Given the description of an element on the screen output the (x, y) to click on. 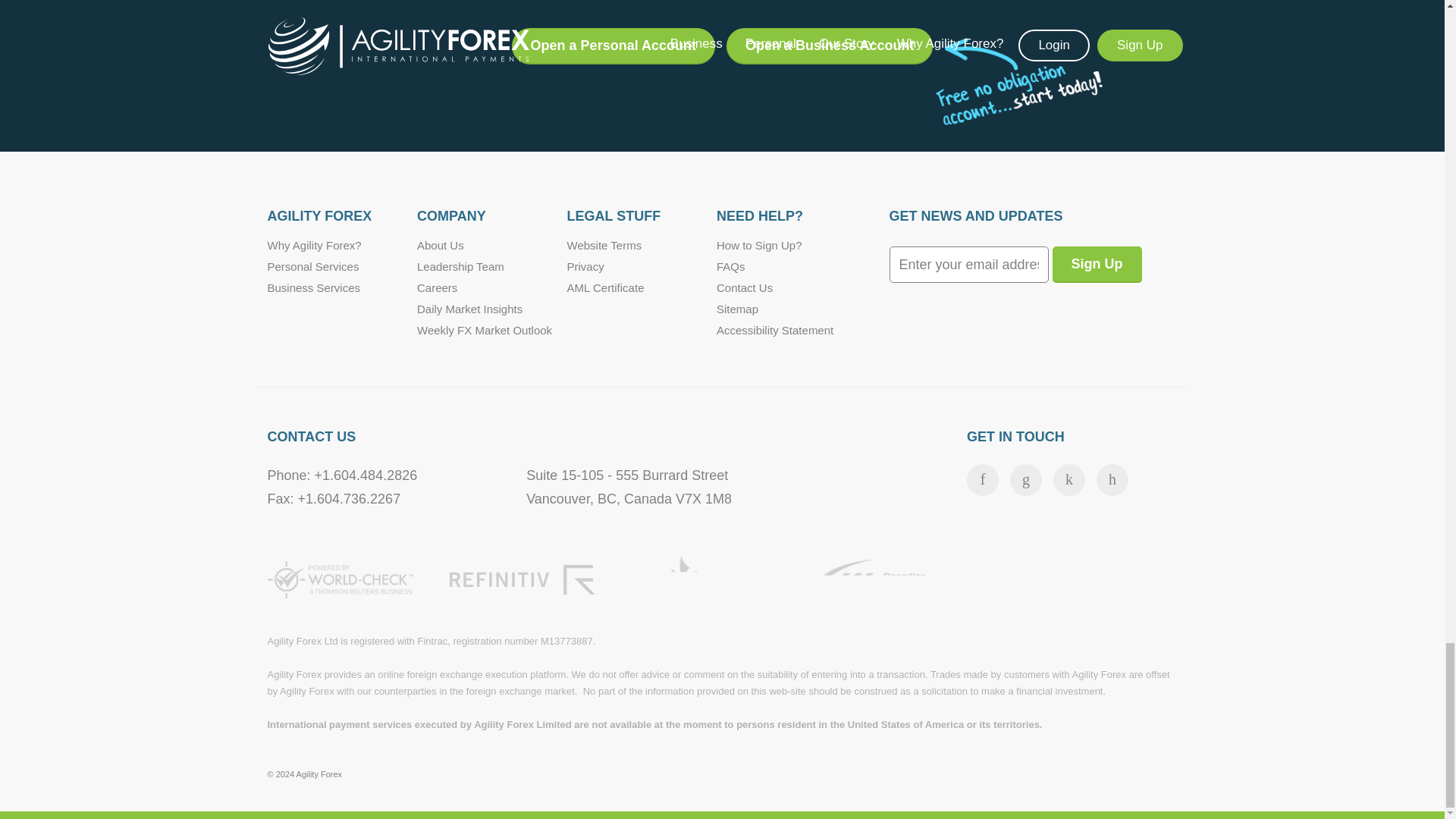
Why Agility Forex (313, 245)
AGILITY FOREX (341, 216)
LinkedIn (1112, 480)
Follow us on Twitter (1026, 480)
Careers (436, 287)
About Us (440, 245)
Open a Personal Account (613, 45)
Personal Services (312, 266)
Business Services (312, 287)
Why Agility Forex? (313, 245)
